Given the description of an element on the screen output the (x, y) to click on. 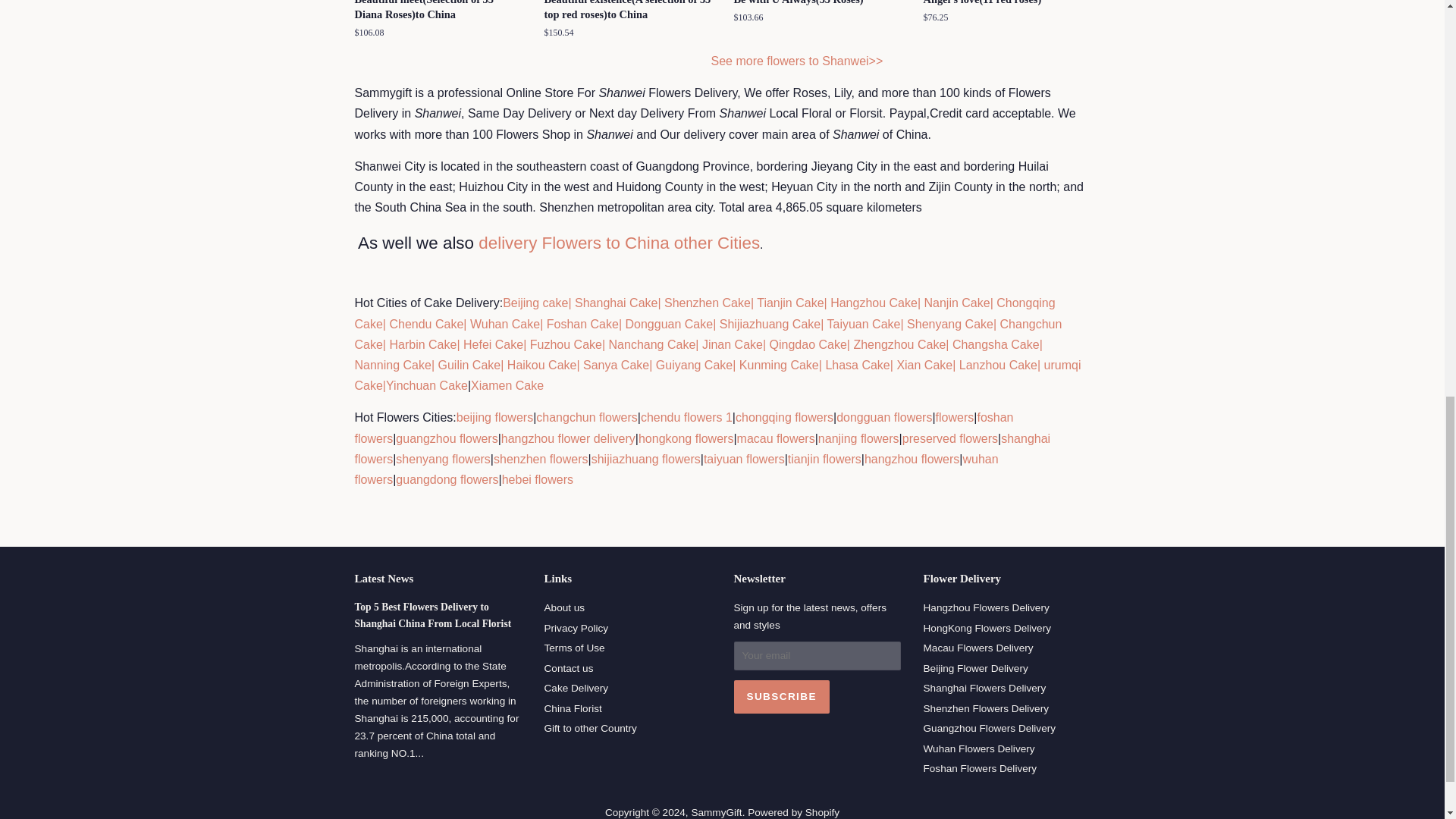
Chongqing cake delivery (705, 313)
Shenzhen cake delivery (707, 302)
Subscribe (781, 696)
Flowers delivery to China (797, 60)
Nanjin cake delivery (956, 302)
Beijing cake delivery (534, 302)
Hangzhou cake delivery (872, 302)
flowers delivery map in china (619, 242)
Tianjin cake delivery (790, 302)
Shanghai cake delivery (615, 302)
